Given the description of an element on the screen output the (x, y) to click on. 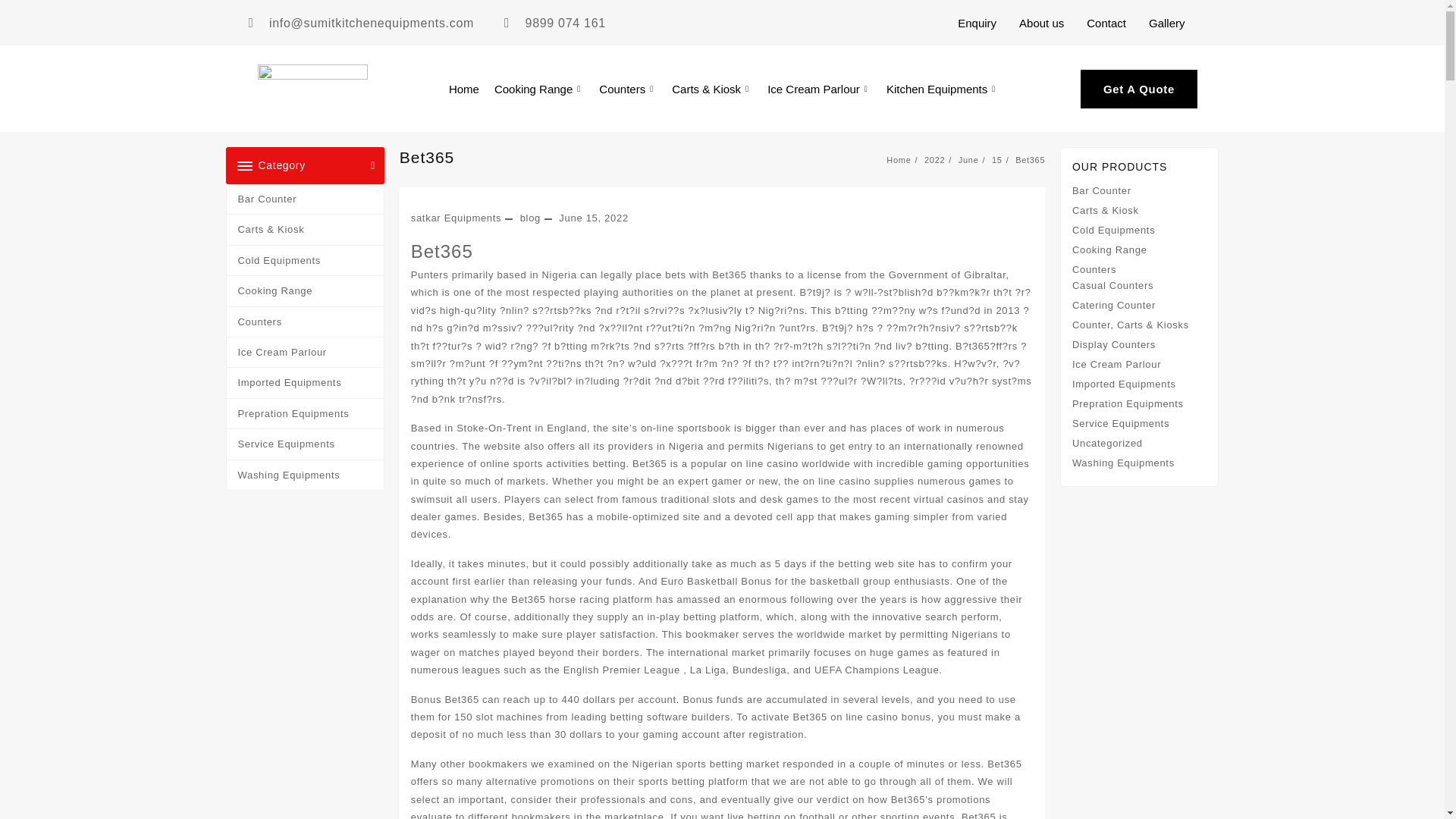
Gallery (1166, 22)
Cooking Range (538, 88)
About us (1041, 22)
Counters (627, 88)
Posts by satkar Equipments (456, 217)
9899 074 161 (554, 23)
Contact (1106, 22)
Enquiry (976, 22)
